Given the description of an element on the screen output the (x, y) to click on. 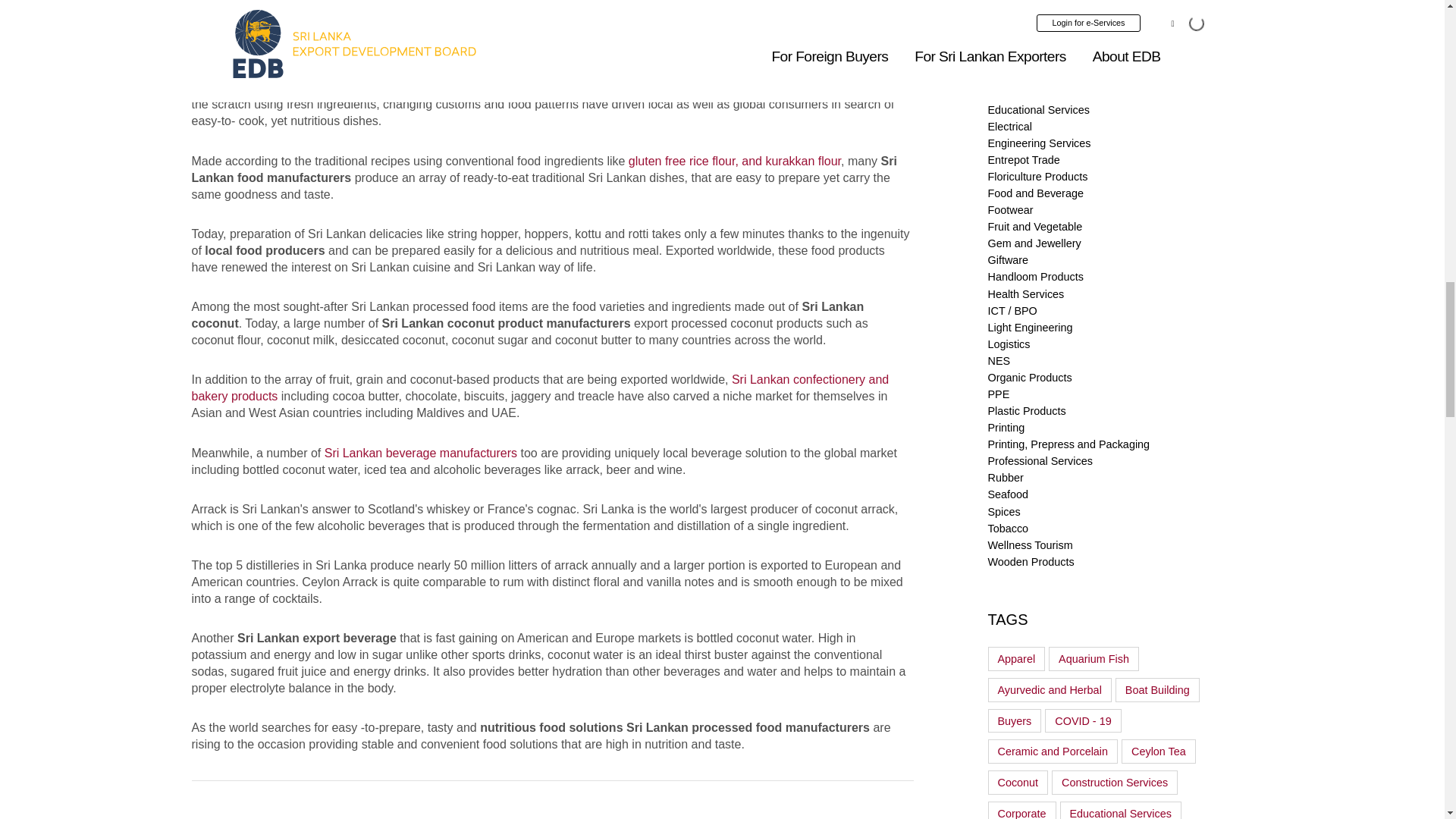
Sri Lankan beverage manufacturers (420, 451)
Sri Lankan confectionery and bakery products (539, 387)
gluten free rice flour, and kurakkan flour (734, 160)
